Given the description of an element on the screen output the (x, y) to click on. 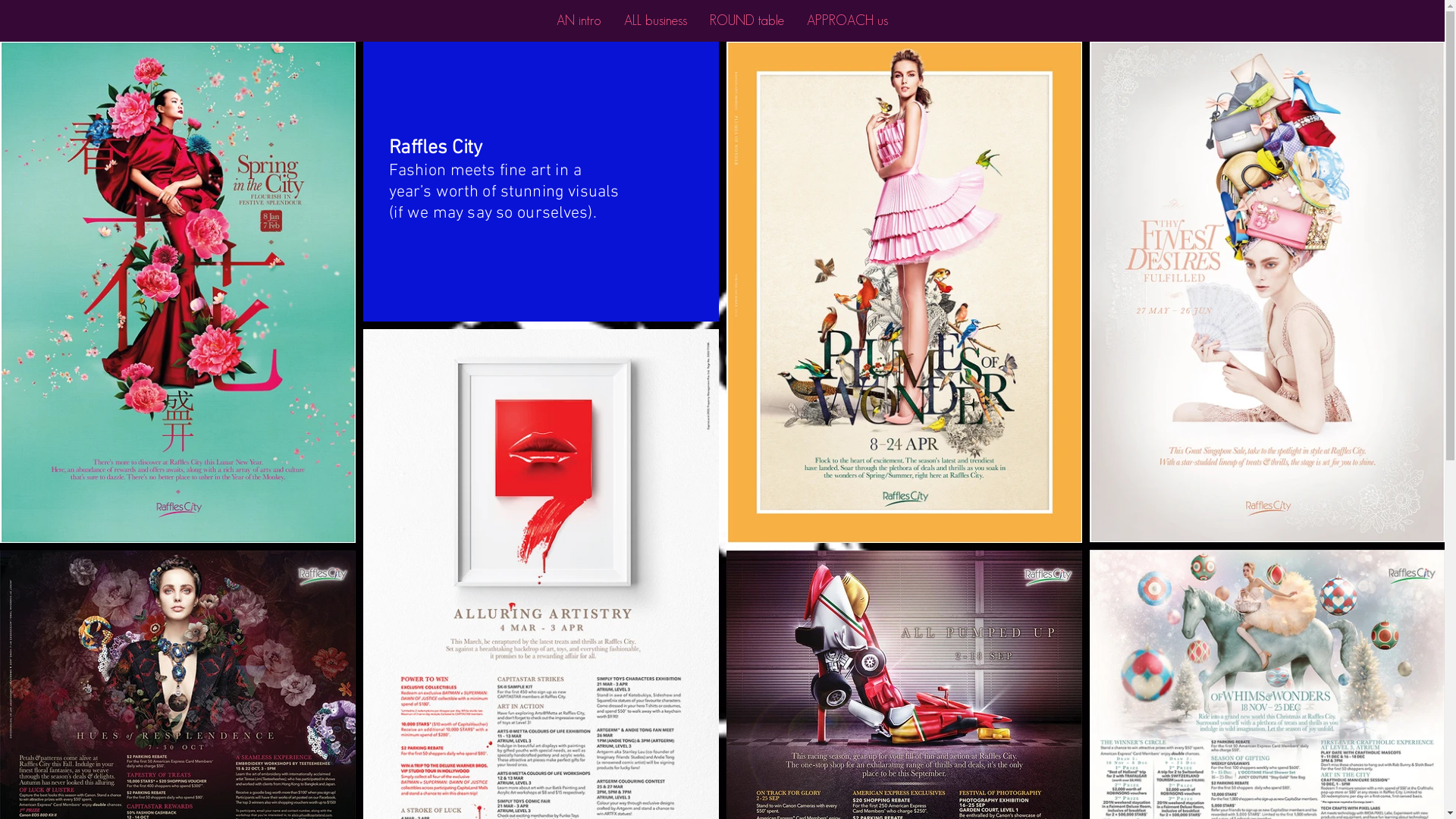
AN intro Element type: text (578, 20)
APPROACH us Element type: text (847, 20)
ROUND table Element type: text (746, 20)
ALL business Element type: text (655, 20)
